Given the description of an element on the screen output the (x, y) to click on. 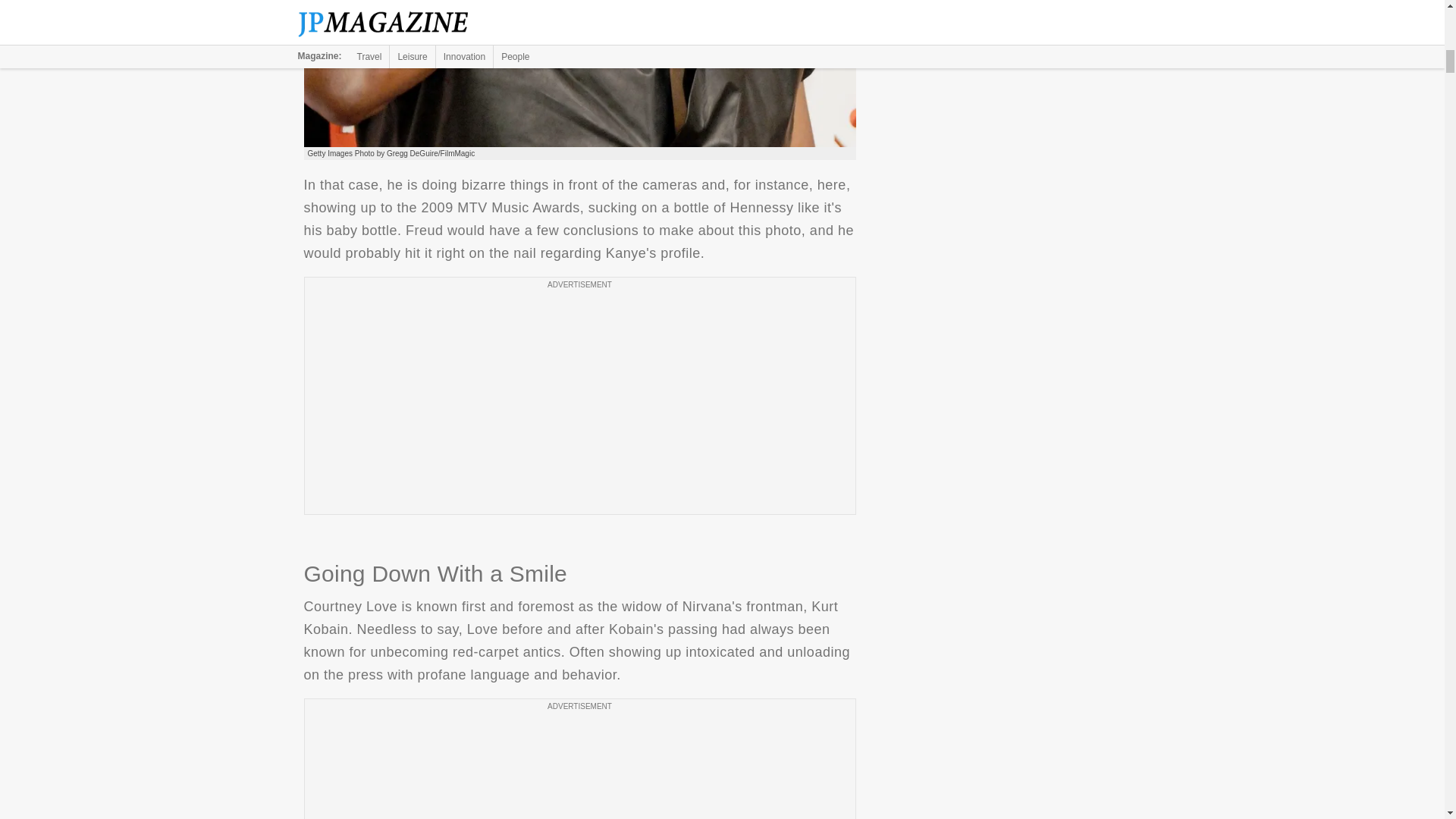
Staying True to Being Ye (579, 73)
